Given the description of an element on the screen output the (x, y) to click on. 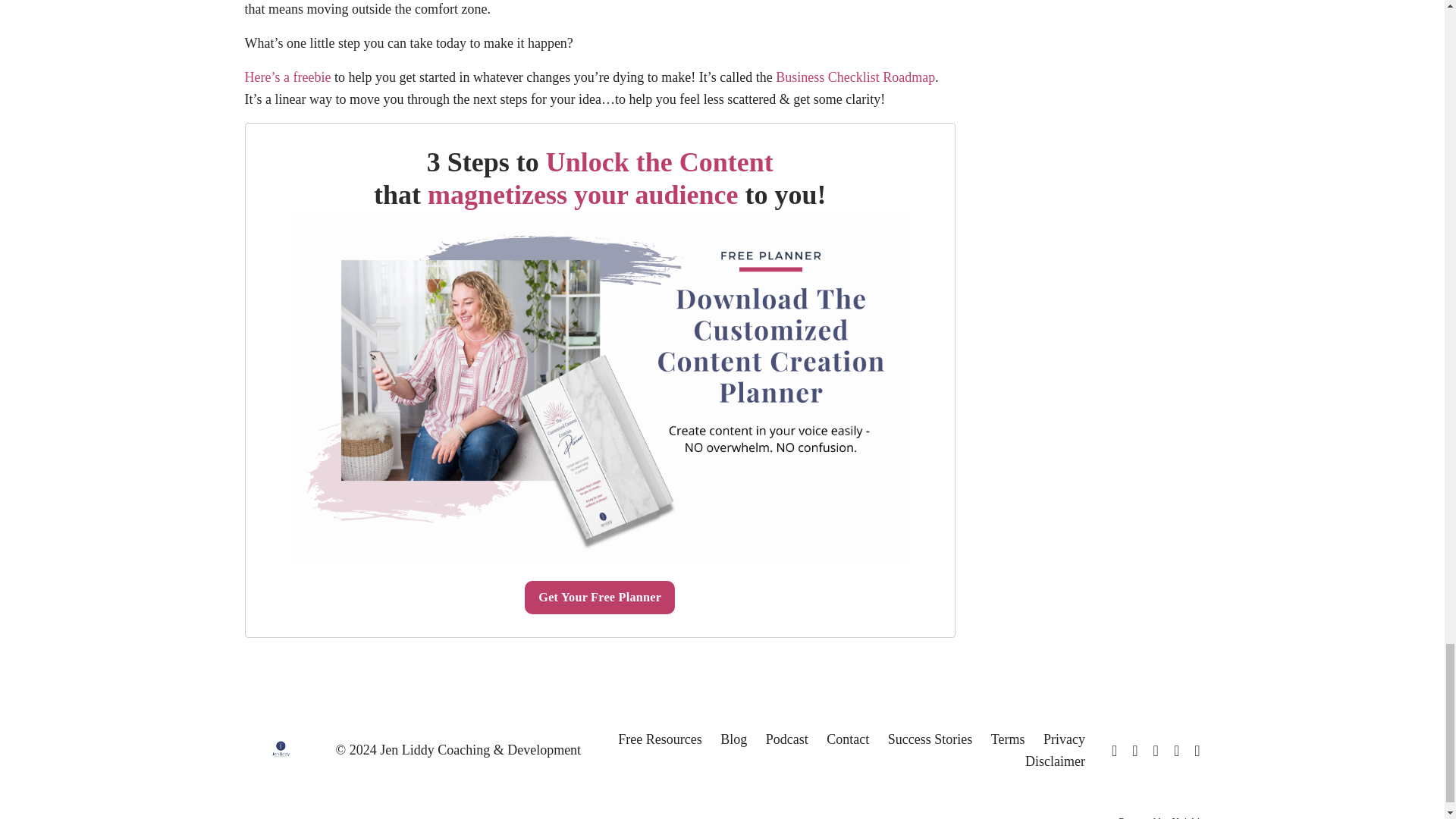
Business Checklist Roadmap (854, 77)
Podcast (786, 739)
Disclaimer (1054, 761)
Blog (733, 739)
Success Stories (930, 739)
Terms (1008, 739)
Privacy (1063, 739)
Contact (848, 739)
Get Your Free Planner (599, 597)
Free Resources (659, 739)
Powered by Kajabi (1158, 817)
